Given the description of an element on the screen output the (x, y) to click on. 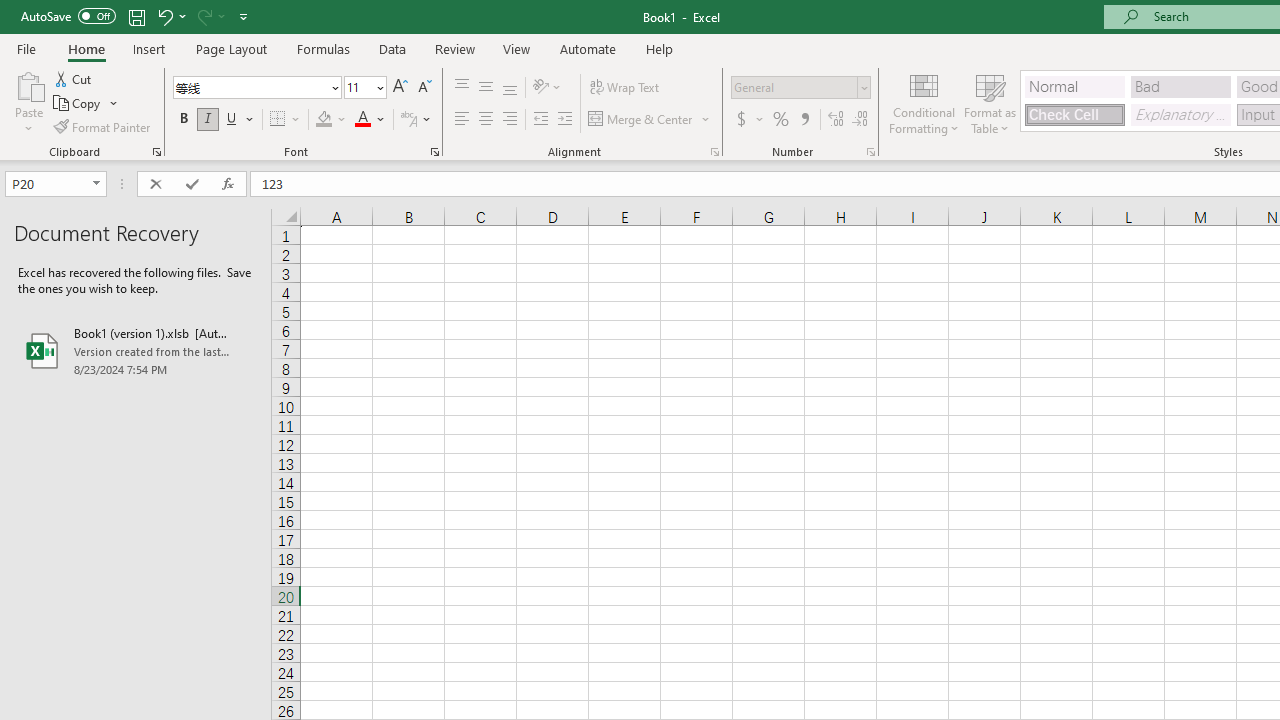
System (10, 11)
Copy (78, 103)
Check Cell (1074, 114)
Orientation (547, 87)
Increase Indent (565, 119)
